Given the description of an element on the screen output the (x, y) to click on. 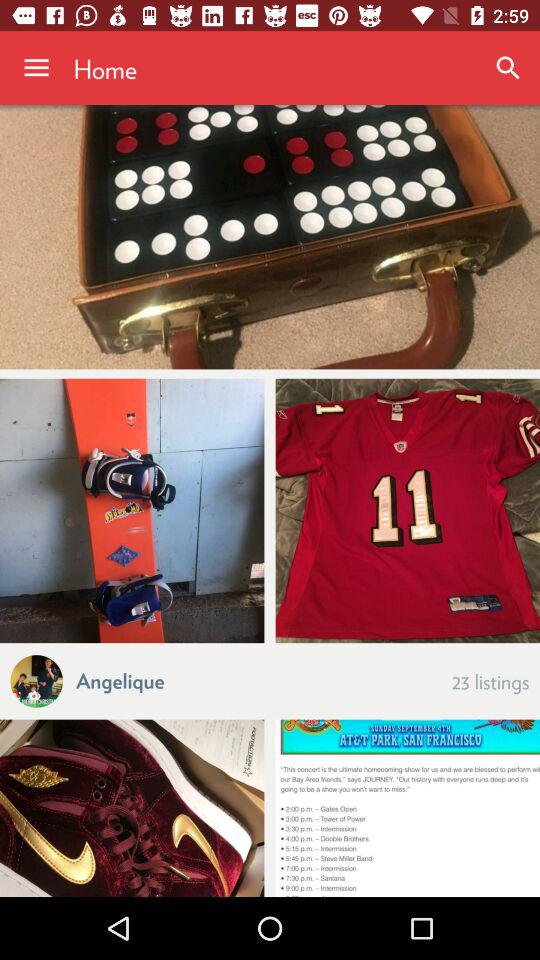
choose the item next to the angelique (490, 680)
